Given the description of an element on the screen output the (x, y) to click on. 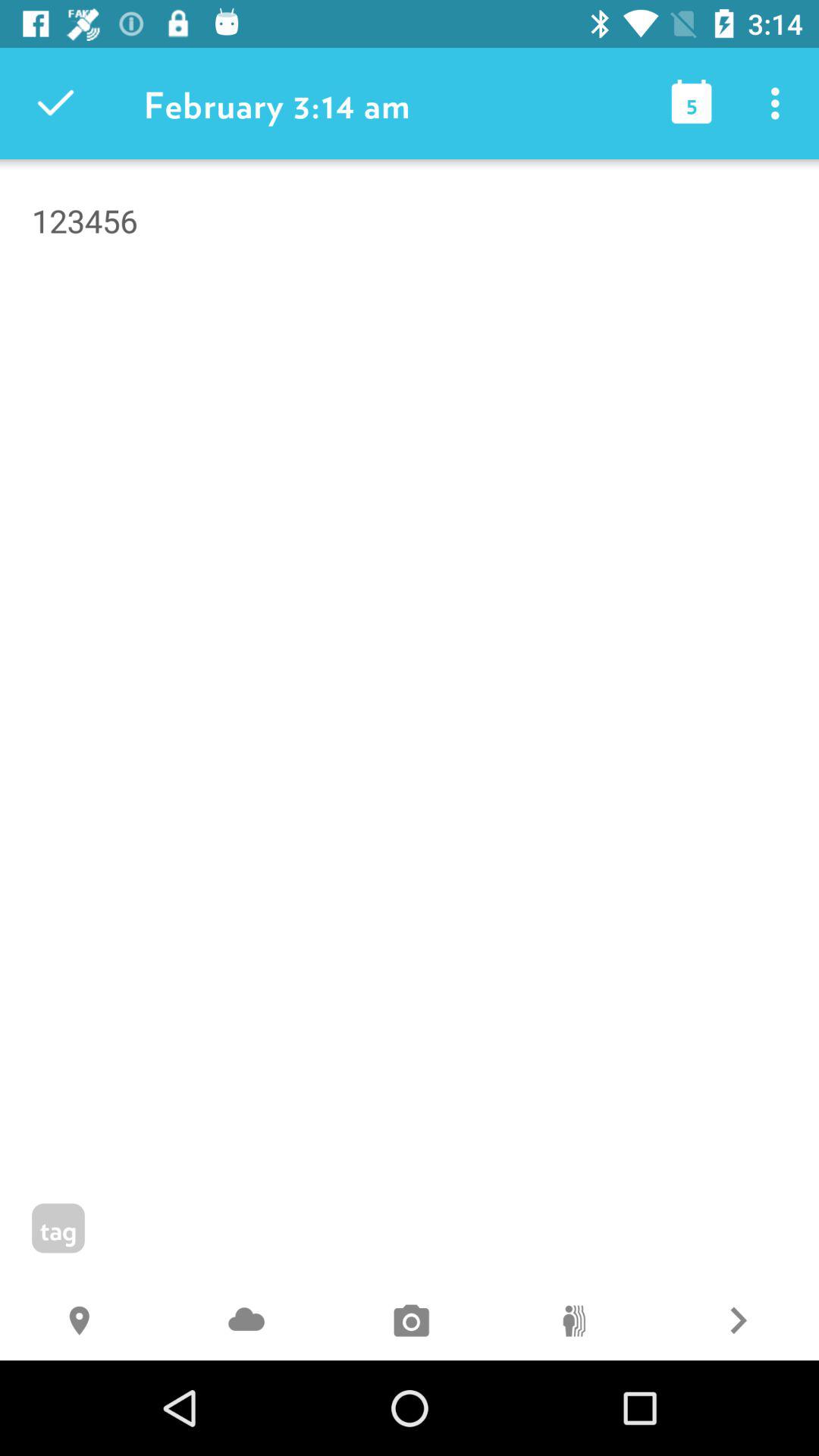
press the 0 (573, 1322)
